Given the description of an element on the screen output the (x, y) to click on. 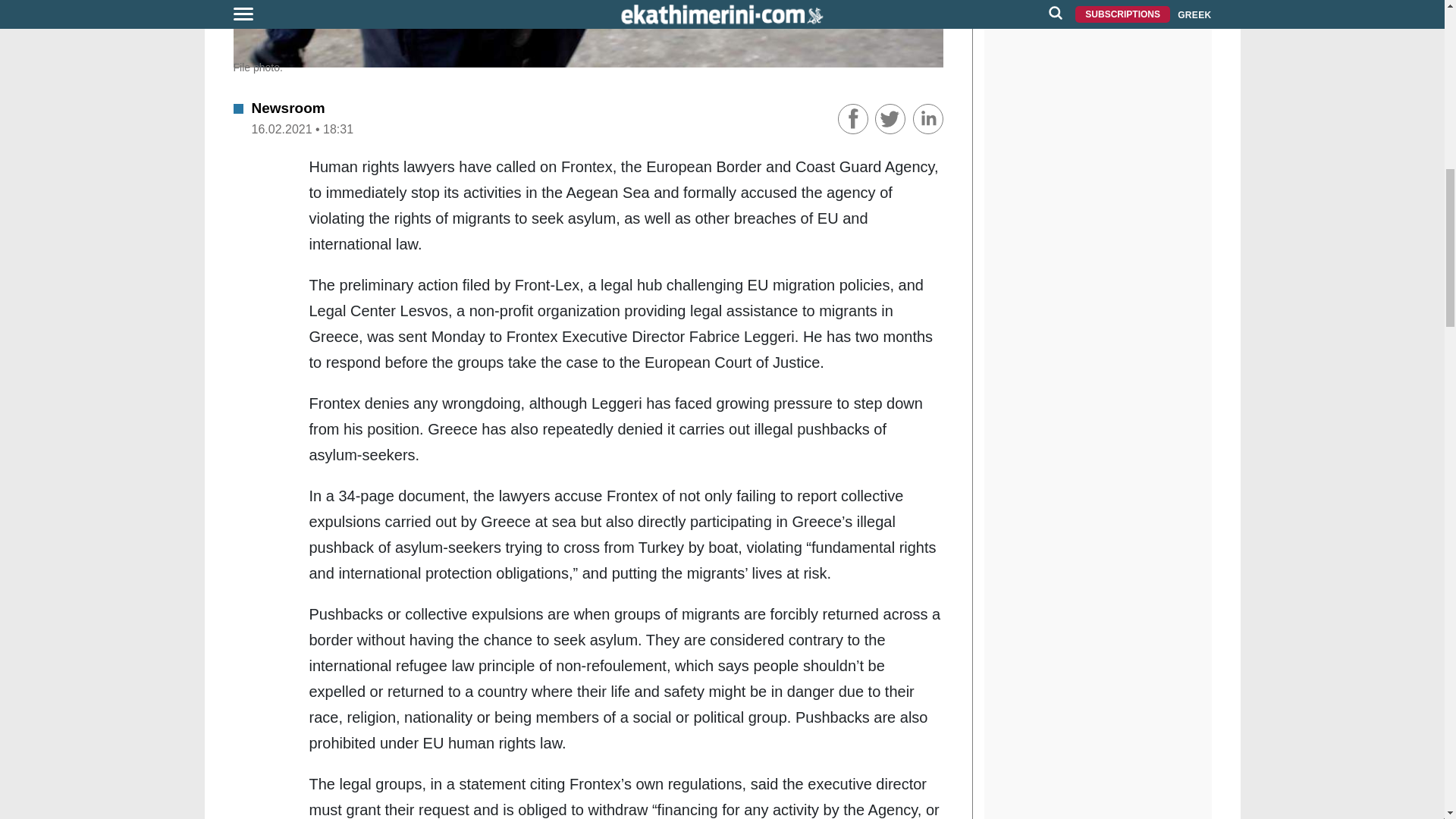
View all posts by Newsroom (287, 107)
